Given the description of an element on the screen output the (x, y) to click on. 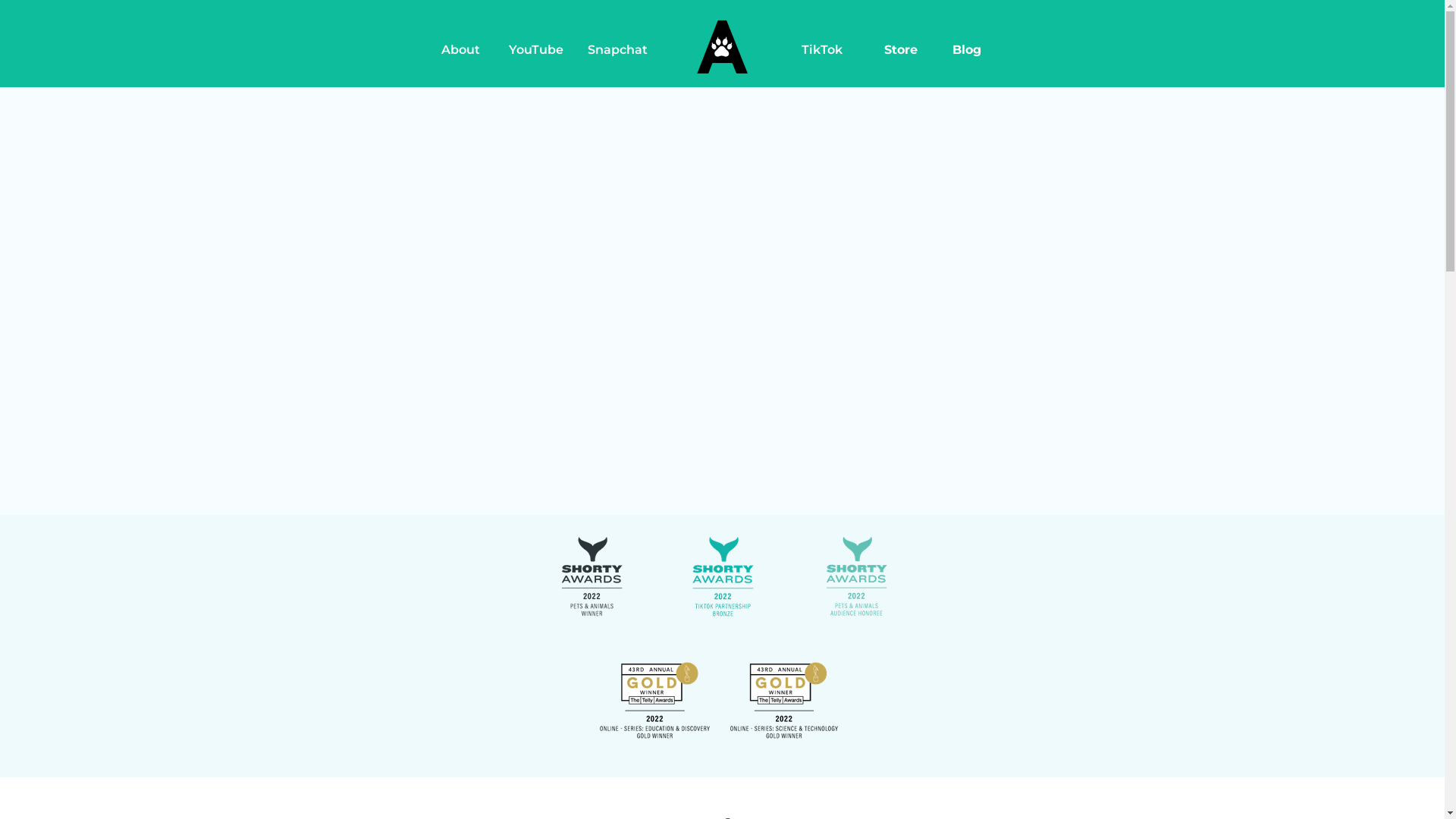
TikTok Element type: text (821, 49)
Blog Element type: text (966, 49)
About Element type: text (460, 49)
Snapchat Element type: text (616, 49)
YouTube Element type: text (536, 49)
Store Element type: text (900, 49)
